Given the description of an element on the screen output the (x, y) to click on. 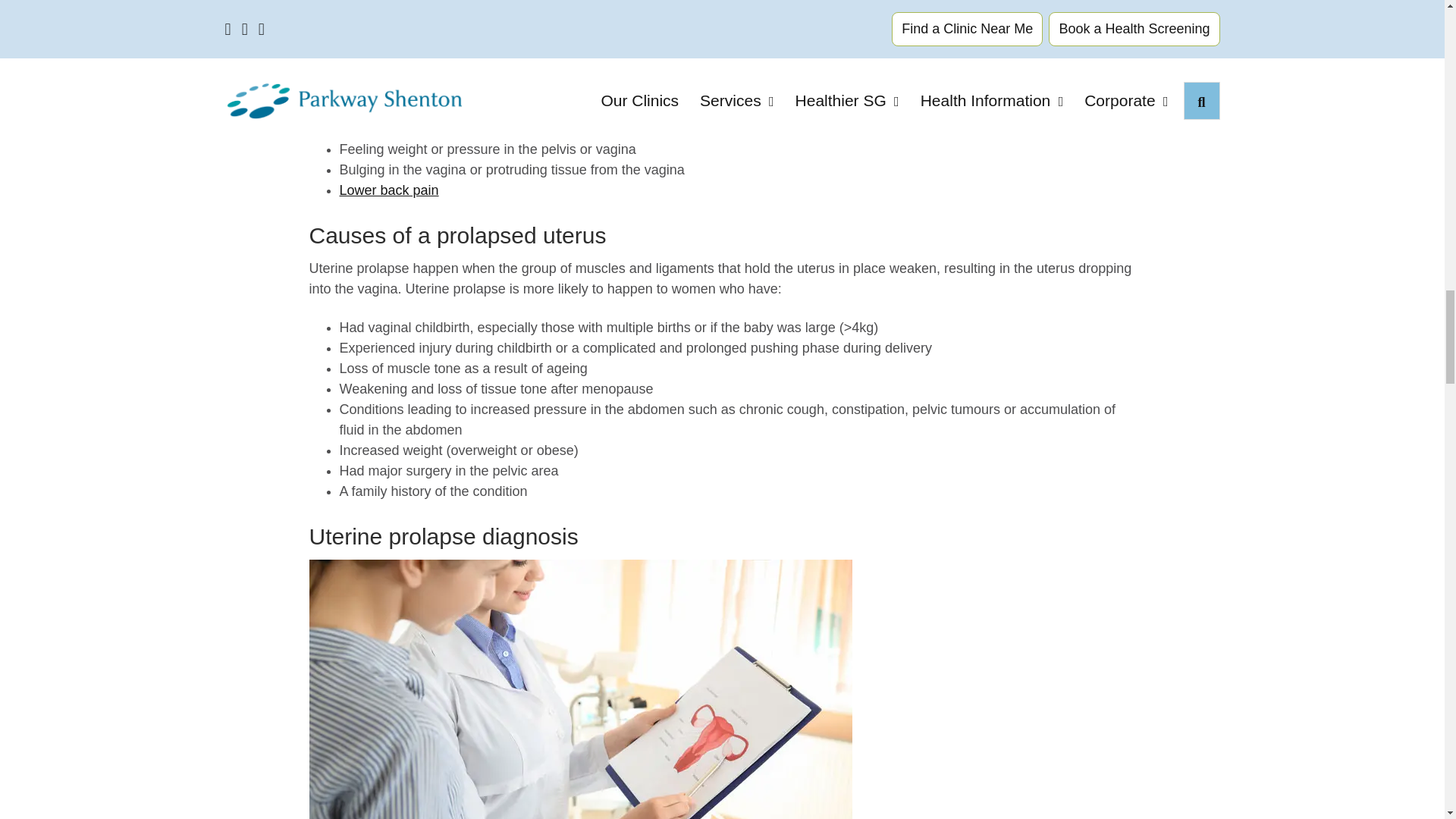
Urinary incontinence (390, 87)
Lumbar pain (389, 190)
